Given the description of an element on the screen output the (x, y) to click on. 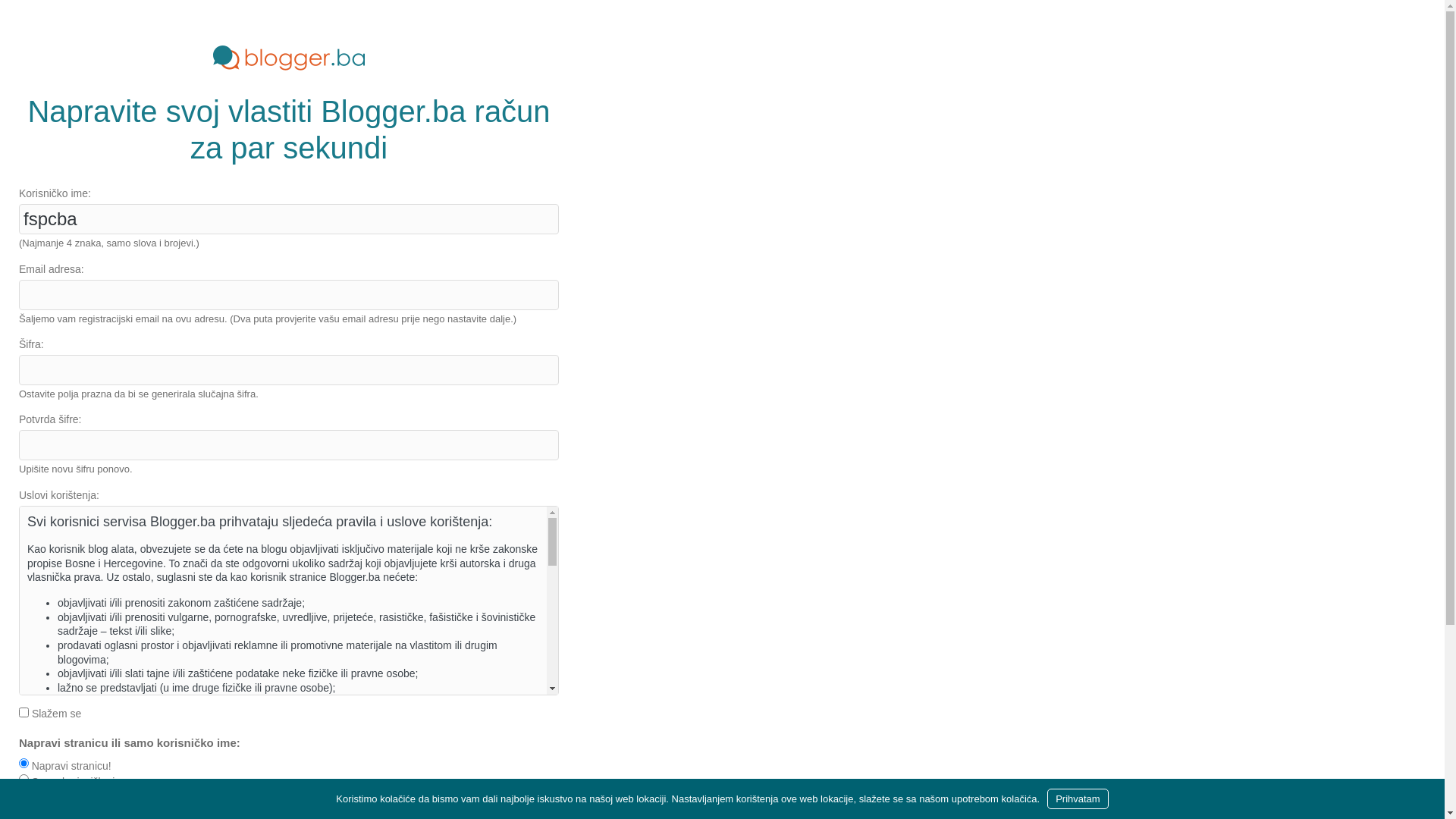
Prihvatam Element type: text (1077, 798)
